Given the description of an element on the screen output the (x, y) to click on. 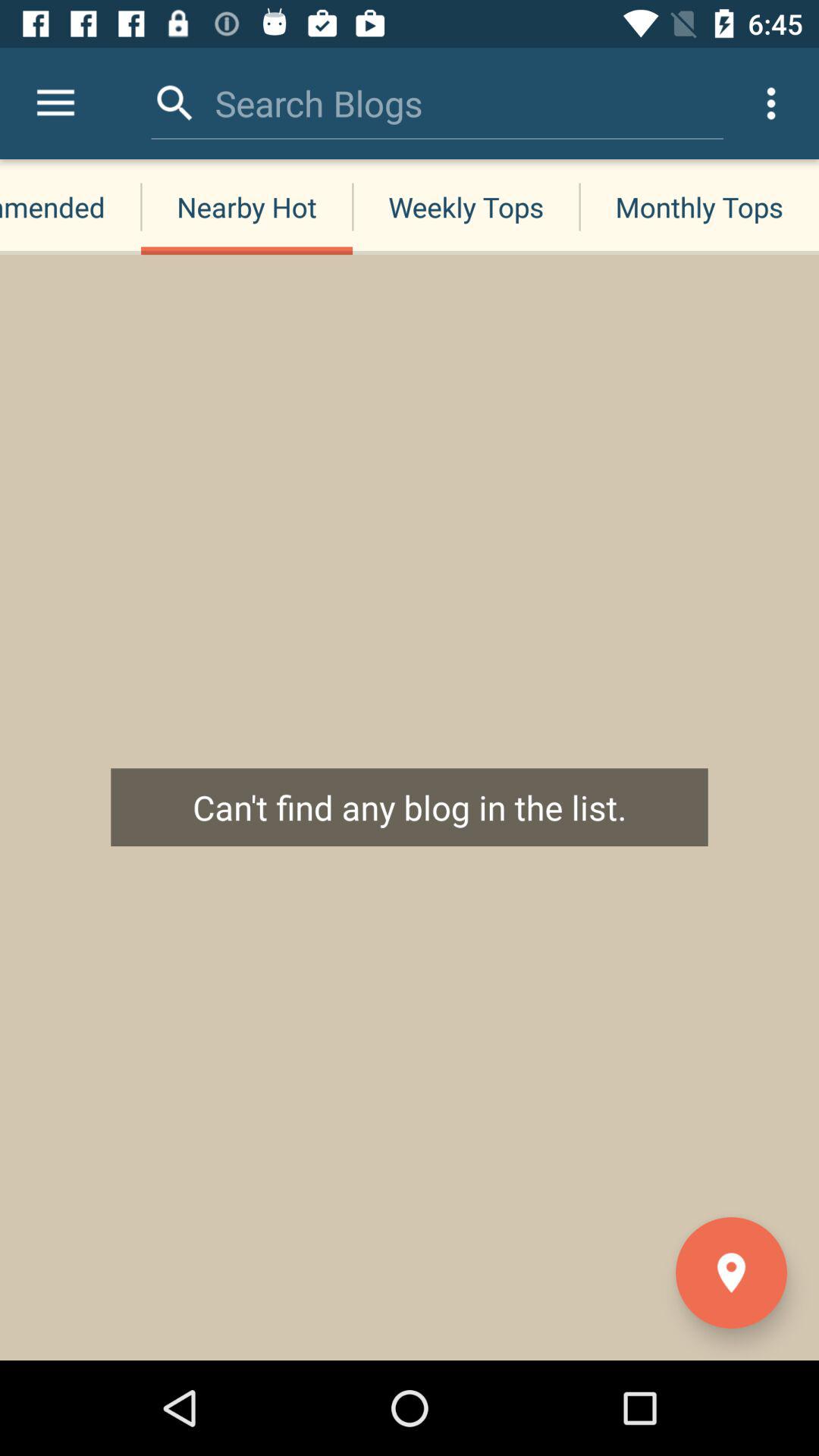
choose the item to the left of the search blogs item (175, 103)
